Given the description of an element on the screen output the (x, y) to click on. 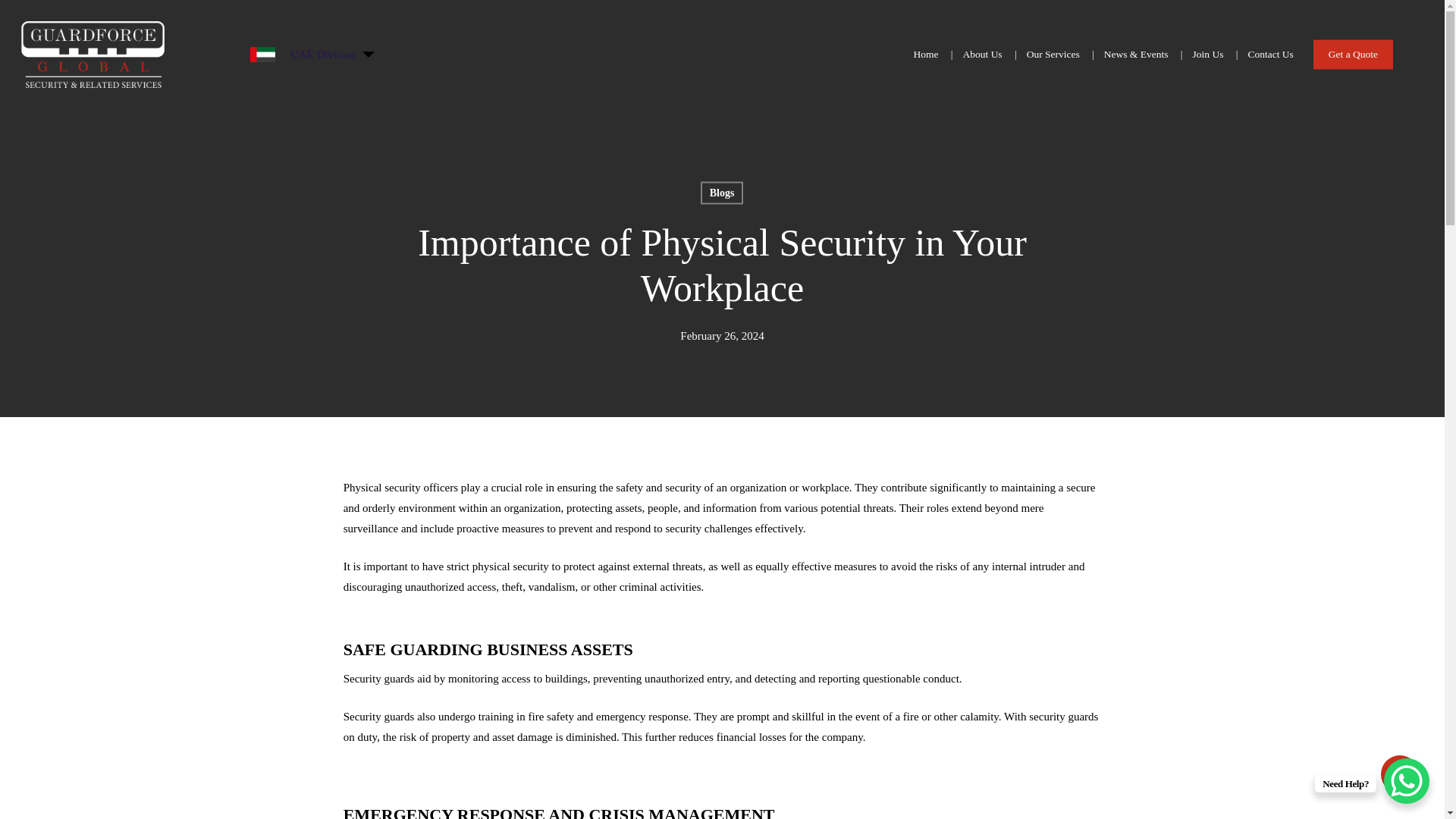
Home (925, 54)
Contact Us (1269, 54)
Get a Quote (1353, 54)
Our Services (1053, 54)
Join Us (1206, 54)
UAE Division (322, 54)
About Us (982, 54)
